Given the description of an element on the screen output the (x, y) to click on. 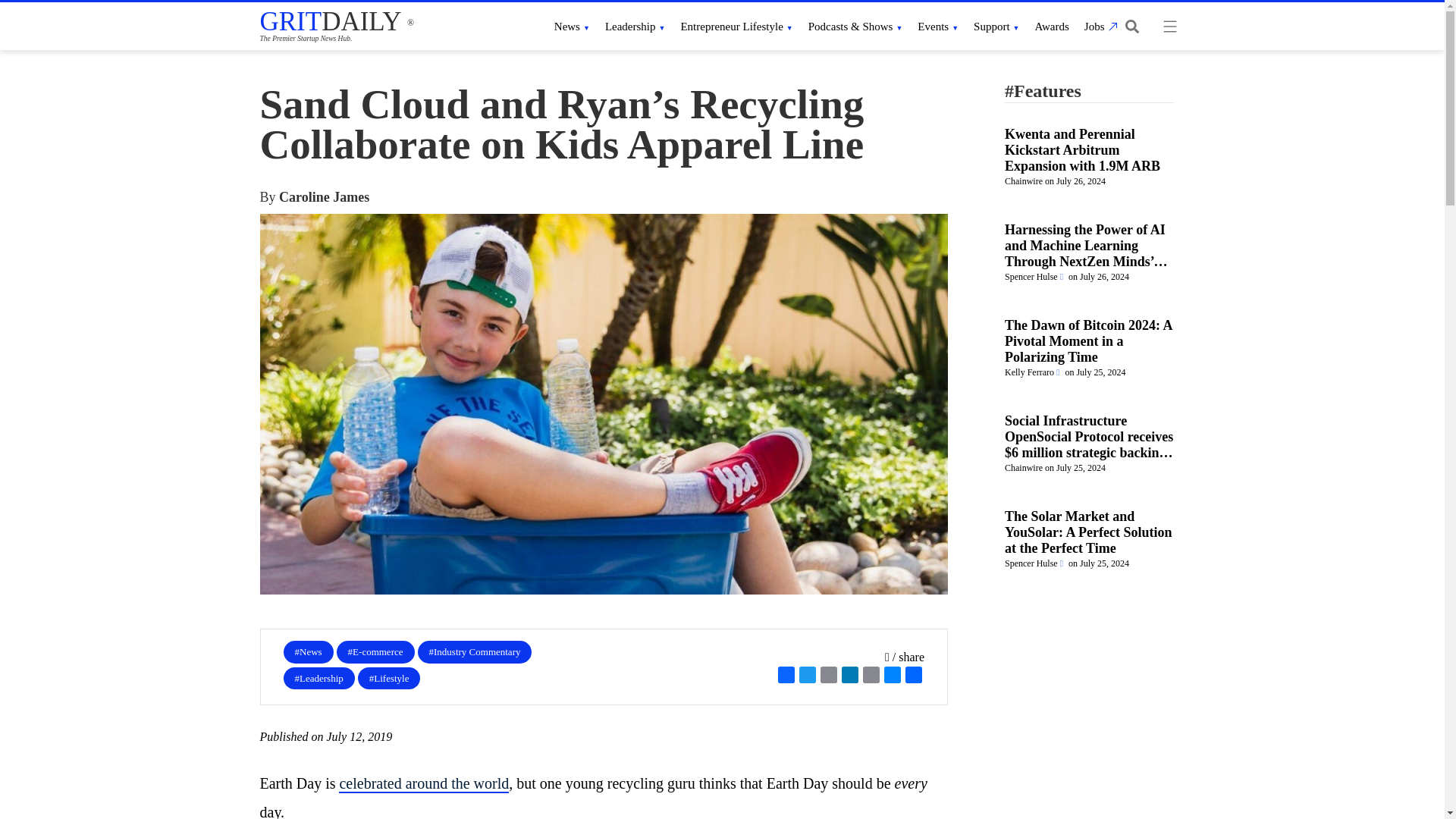
Awards (1051, 25)
Leadership (635, 25)
Entrepreneur Lifestyle (735, 25)
News (571, 25)
Events (937, 25)
Jobs (1098, 25)
Support (996, 25)
